Given the description of an element on the screen output the (x, y) to click on. 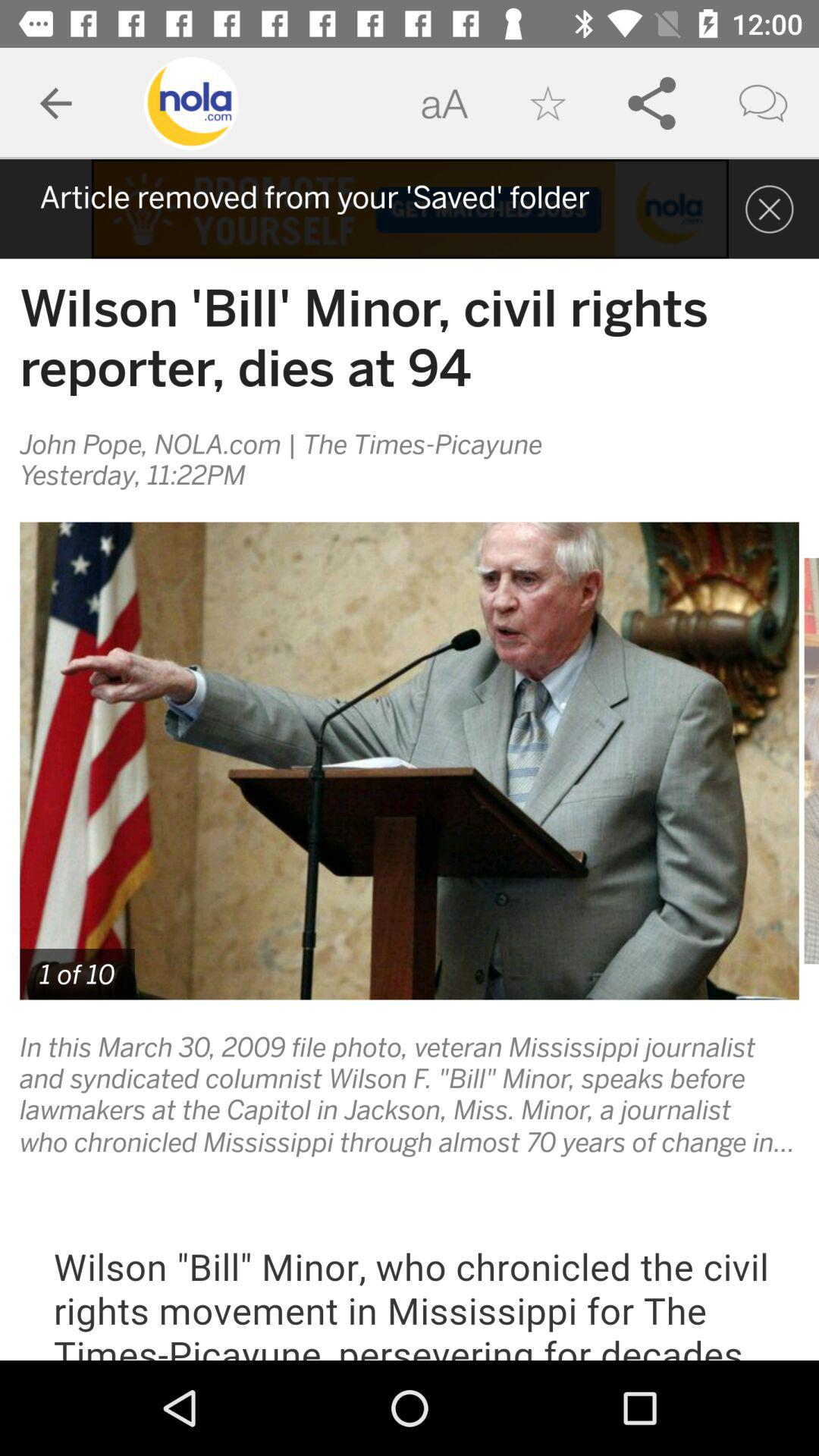
close message (769, 208)
